Given the description of an element on the screen output the (x, y) to click on. 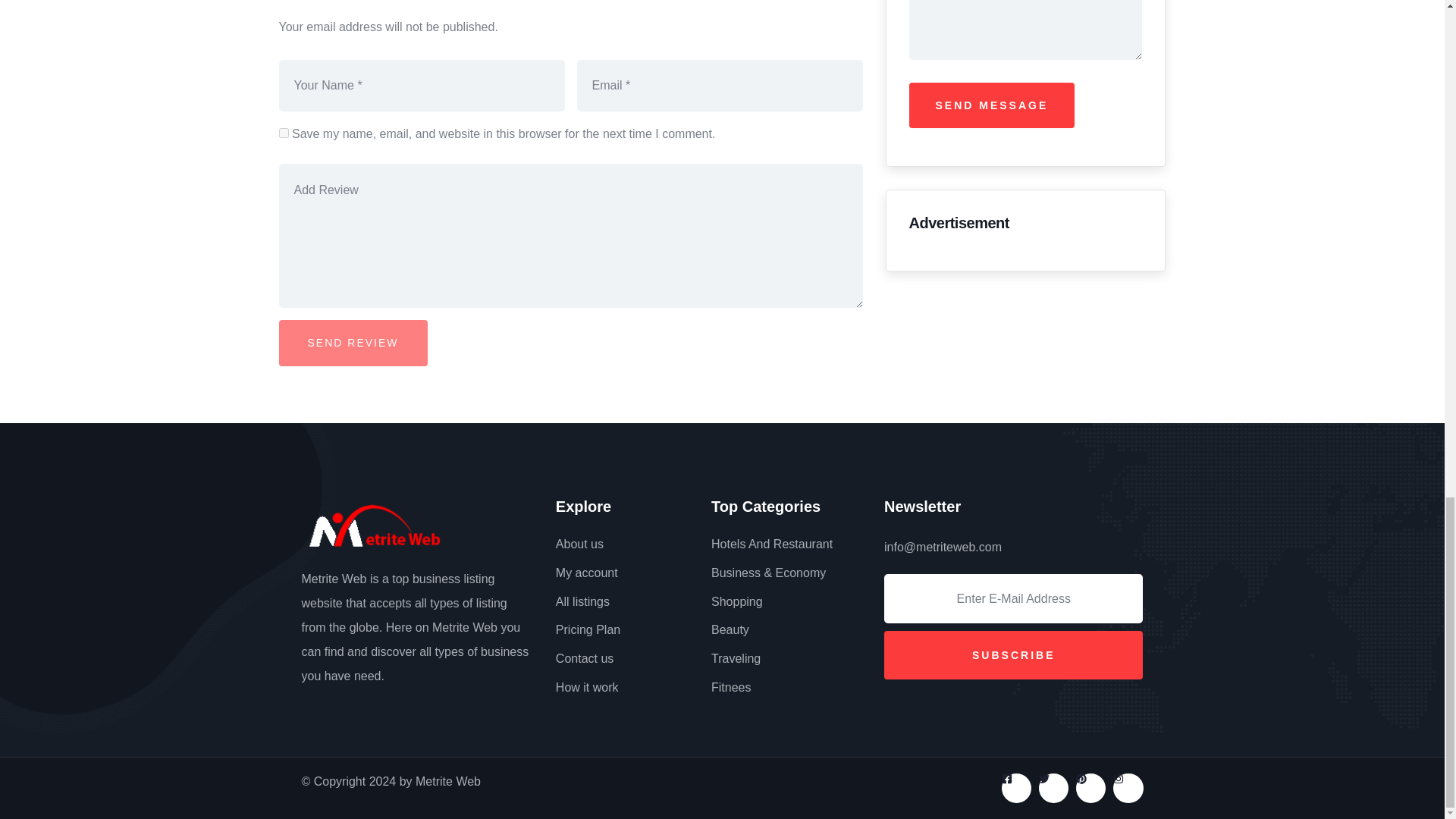
Subscribe (1012, 654)
Send review (353, 343)
Send message (991, 104)
yes (283, 132)
Home (343, 525)
